Given the description of an element on the screen output the (x, y) to click on. 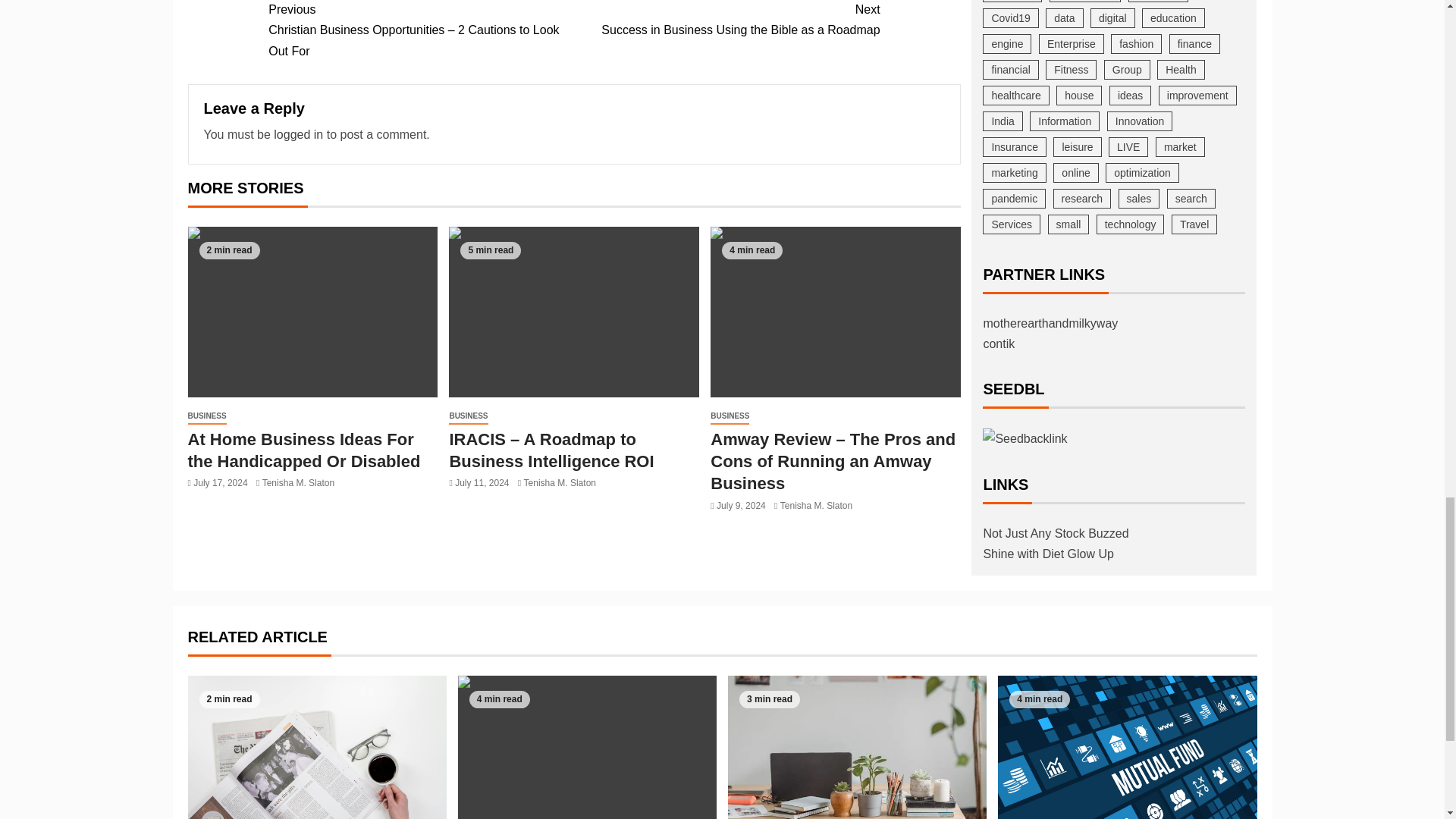
At Home Business Ideas For the Handicapped Or Disabled (726, 20)
BUSINESS (312, 311)
logged in (467, 416)
Tenisha M. Slaton (298, 133)
Tenisha M. Slaton (559, 482)
BUSINESS (298, 482)
At Home Business Ideas For the Handicapped Or Disabled (207, 416)
